Given the description of an element on the screen output the (x, y) to click on. 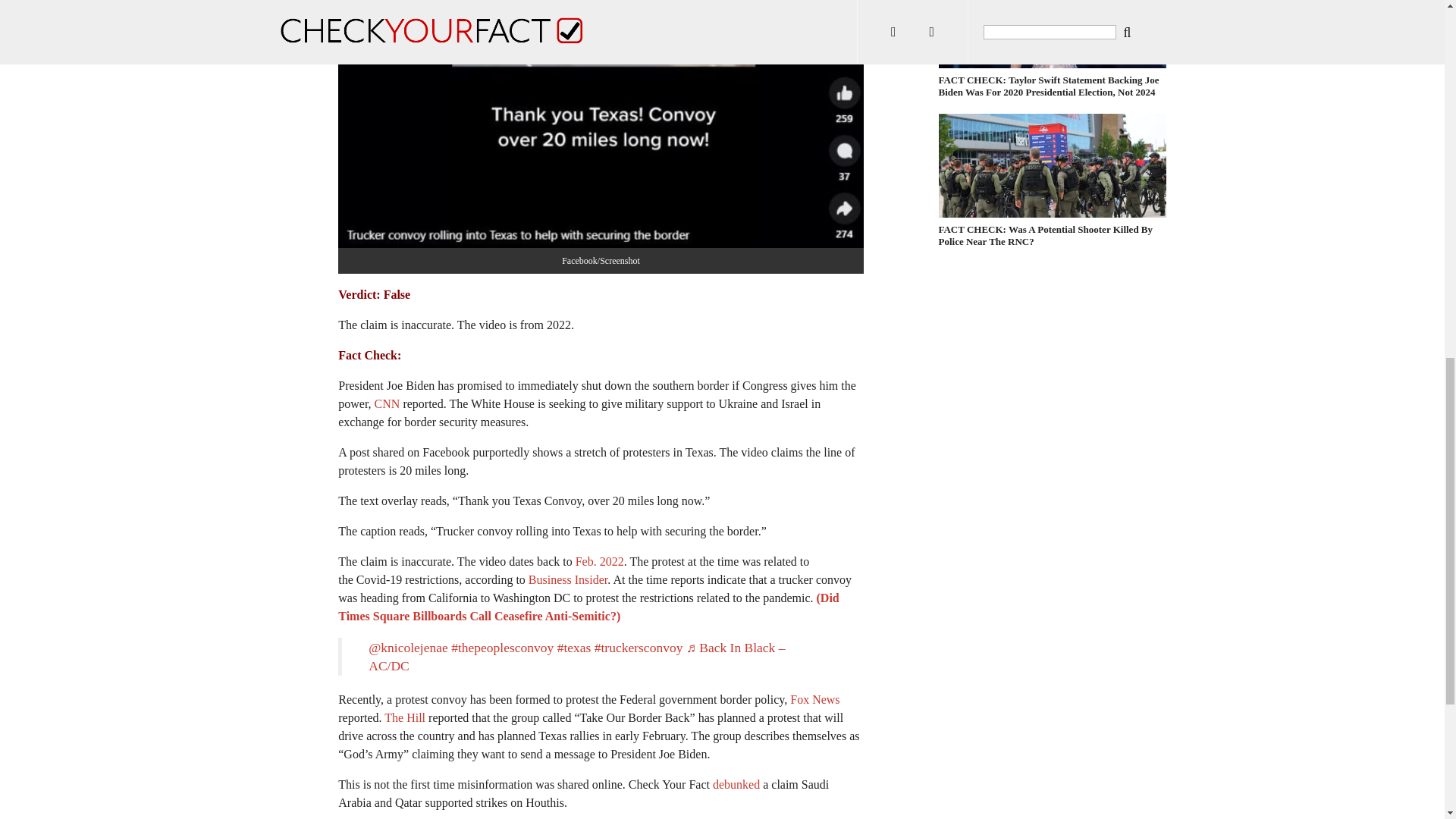
The Hill (404, 717)
Business Insider (567, 579)
debunked (736, 784)
CNN (387, 403)
thepeoplesconvoy (502, 647)
Fox News (815, 698)
Feb. 2022 (599, 561)
Close window (18, 14)
texas (574, 647)
truckersconvoy (638, 647)
